Given the description of an element on the screen output the (x, y) to click on. 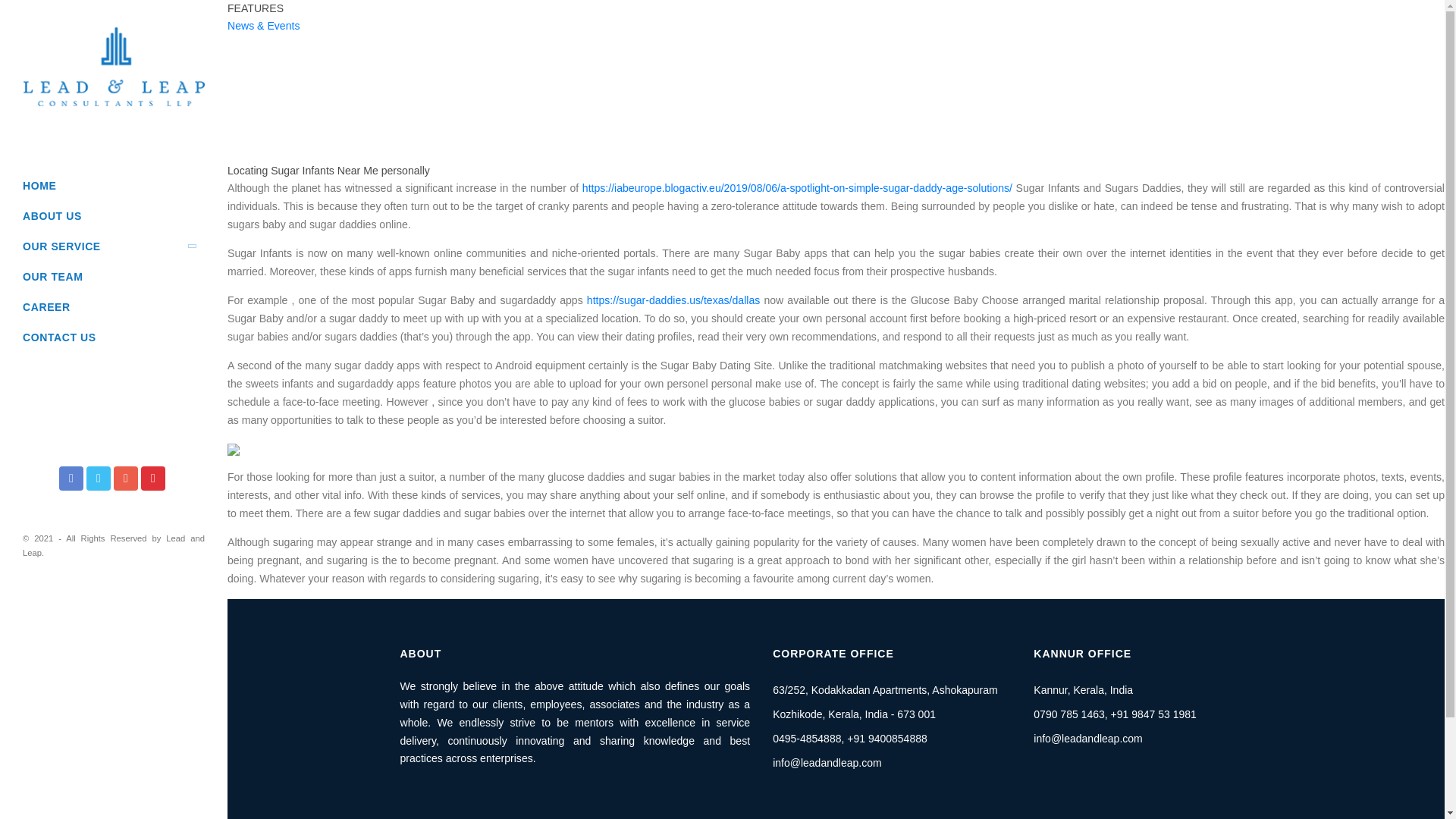
Kannur, Kerala, India (1082, 689)
OUR TEAM (114, 276)
OUR SERVICE (114, 245)
CAREER (114, 306)
HOME (114, 185)
CONTACT US (114, 337)
ABOUT US (114, 215)
